Given the description of an element on the screen output the (x, y) to click on. 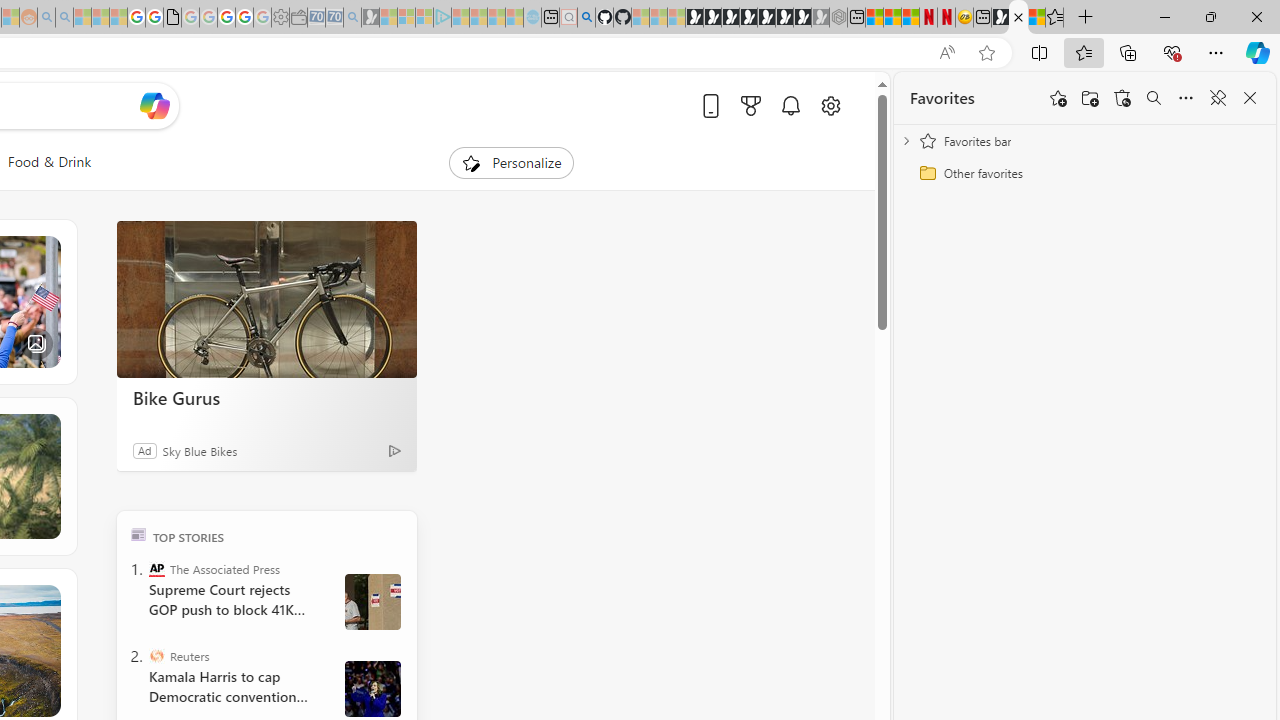
Bike Gurus (266, 397)
